Given the description of an element on the screen output the (x, y) to click on. 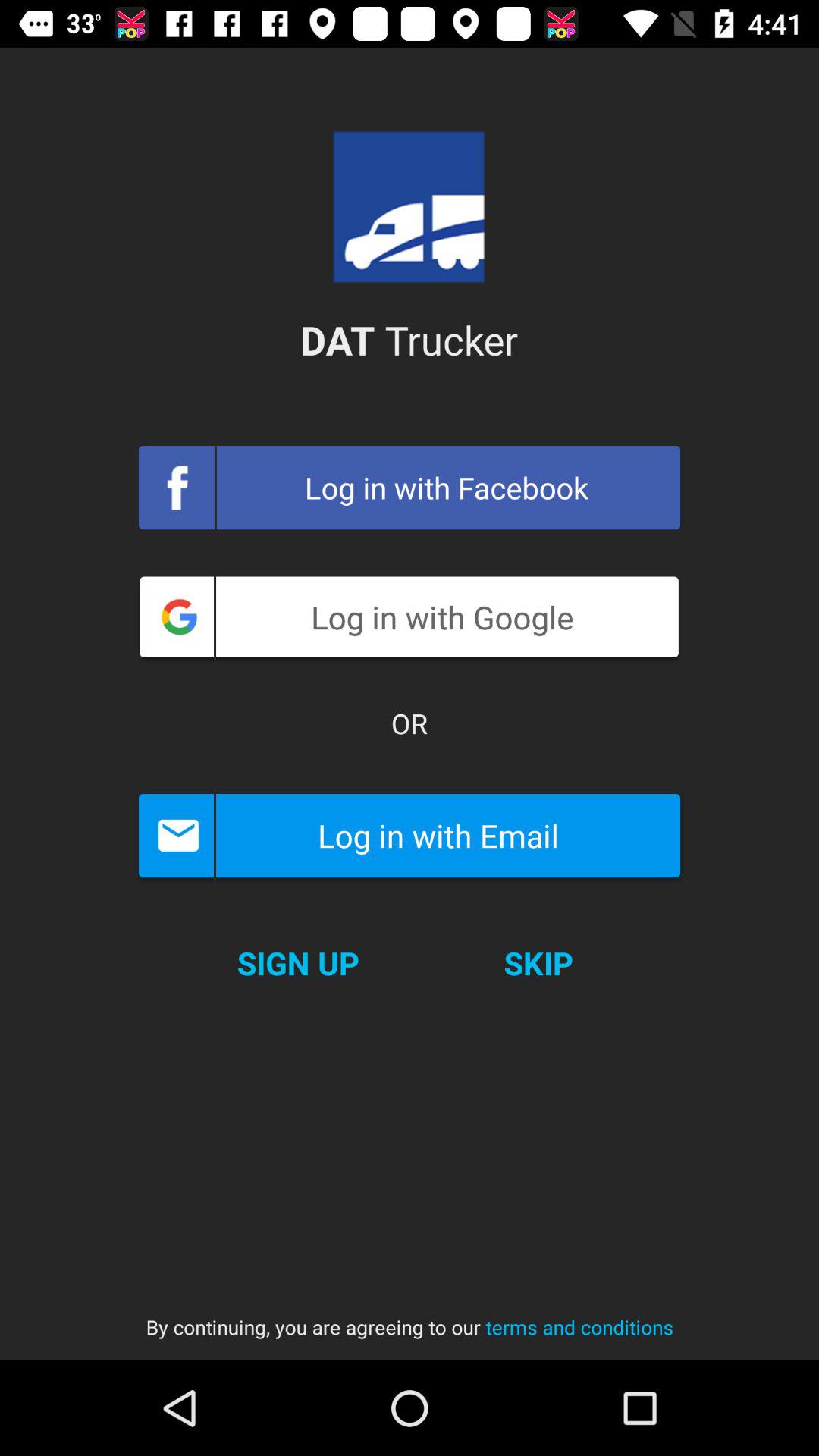
turn off icon next to the skip item (297, 962)
